Given the description of an element on the screen output the (x, y) to click on. 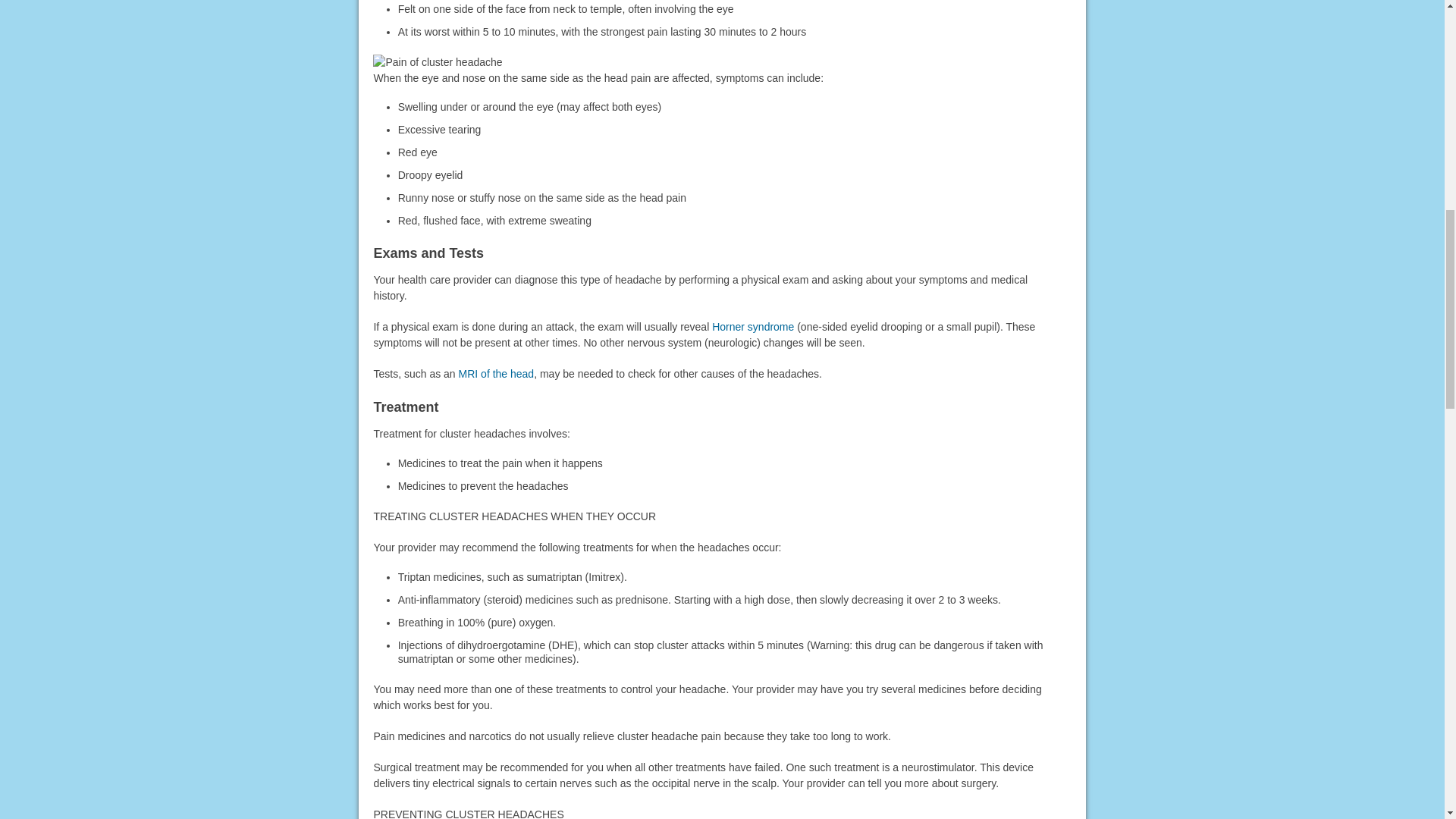
Pain of cluster headache (437, 62)
Horner syndrome (752, 326)
MRI of the head (496, 373)
